Given the description of an element on the screen output the (x, y) to click on. 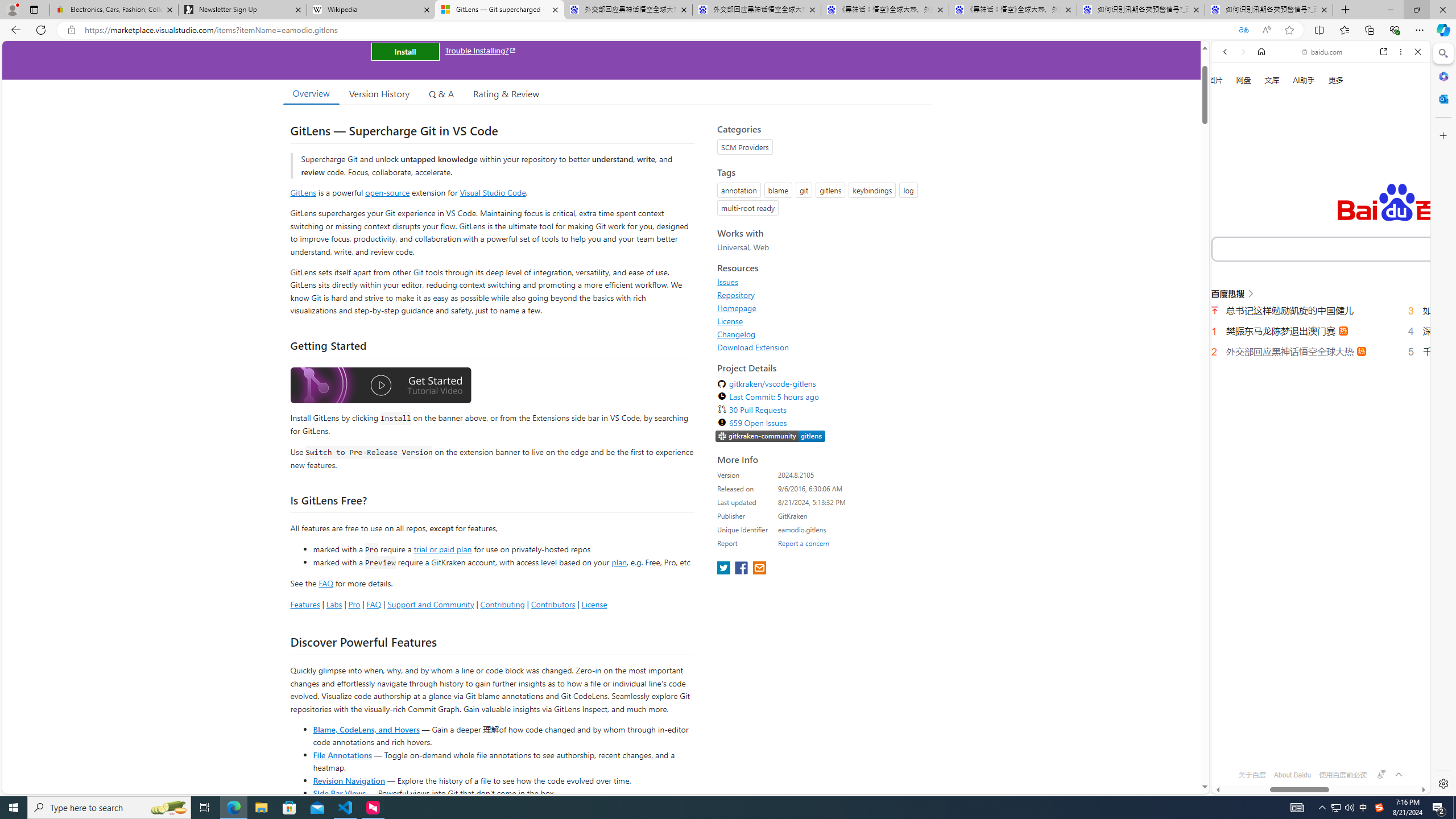
OFTV - Enjoy videos from your favorite OF creators! (1315, 753)
Cambridge Dictionary (1315, 397)
Report a concern (803, 542)
share extension on twitter (724, 568)
Changelog (820, 333)
File Annotations (342, 754)
Rating & Review (505, 92)
